Given the description of an element on the screen output the (x, y) to click on. 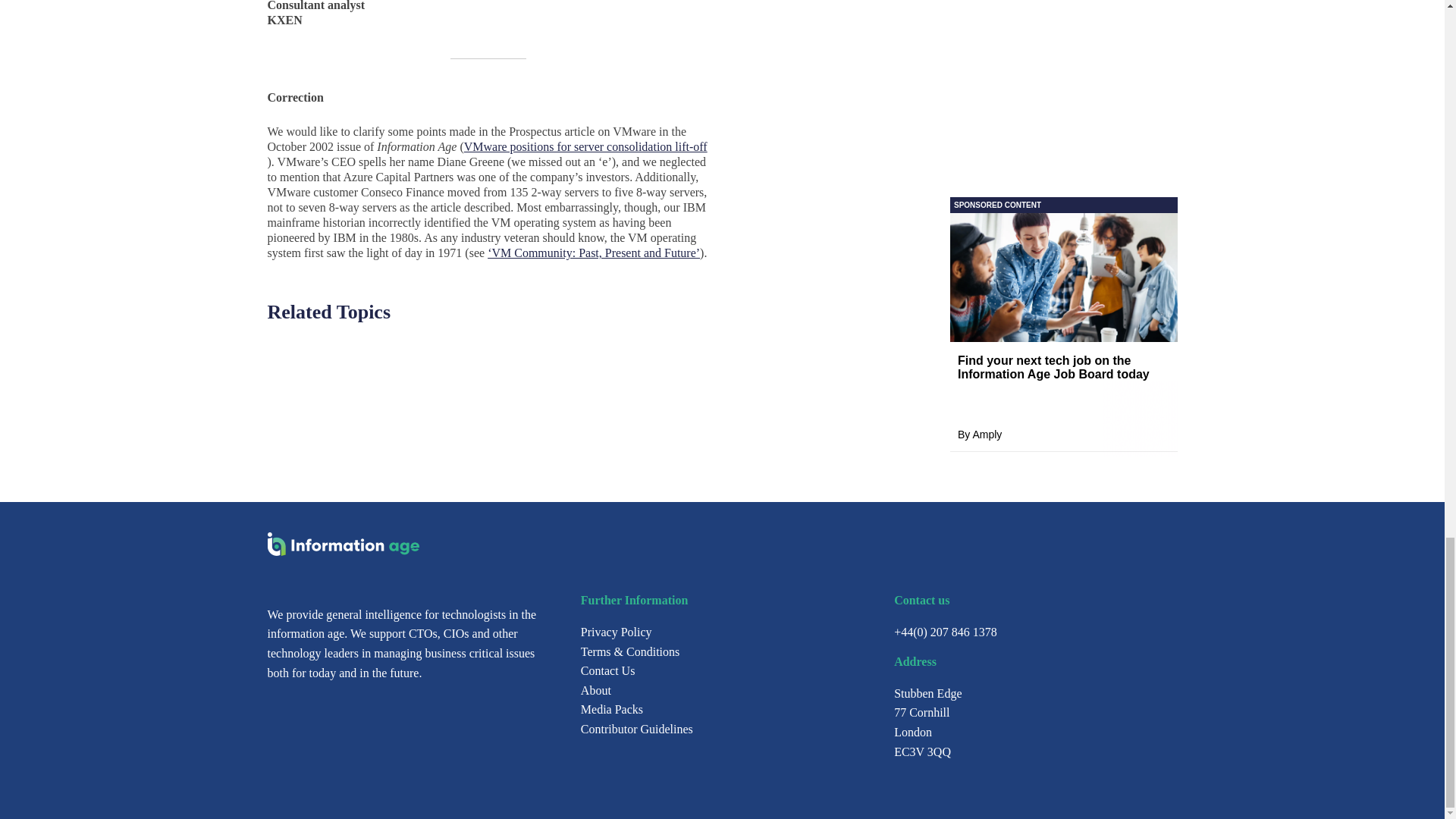
3rd party ad content (1062, 94)
